Given the description of an element on the screen output the (x, y) to click on. 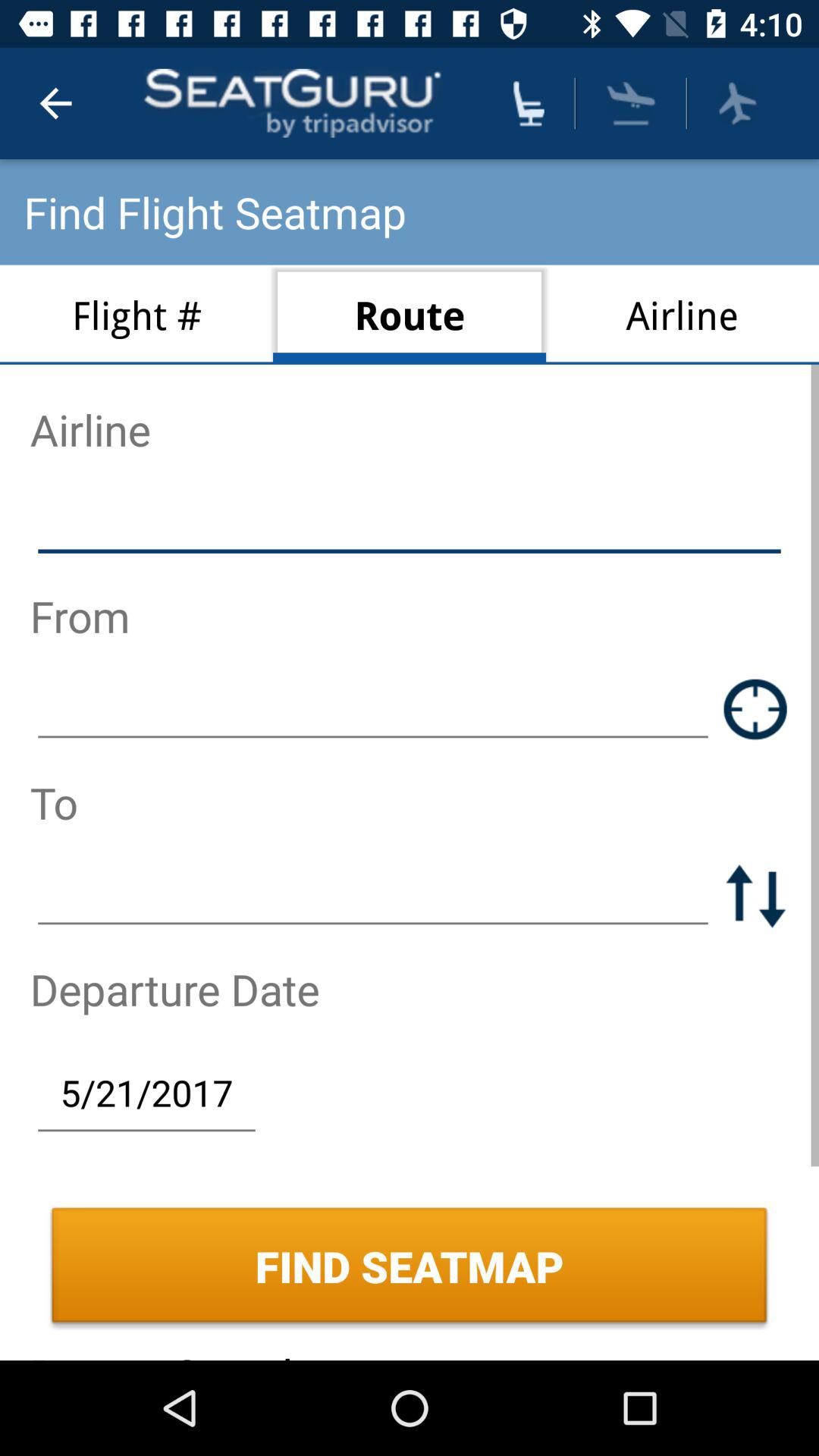
flip to the 5/21/2017 icon (146, 1092)
